Given the description of an element on the screen output the (x, y) to click on. 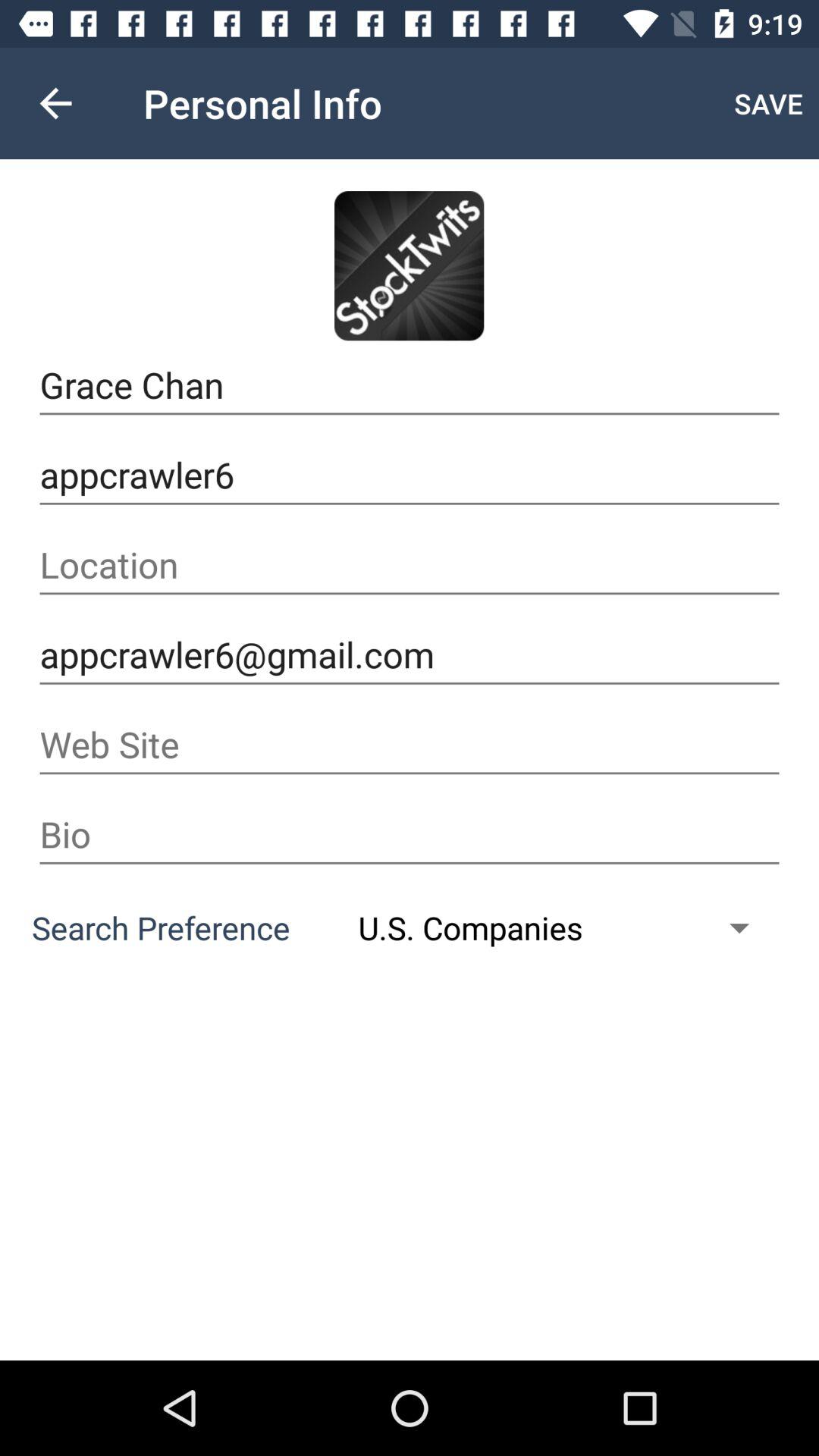
click the item to the left of personal info item (55, 103)
